Given the description of an element on the screen output the (x, y) to click on. 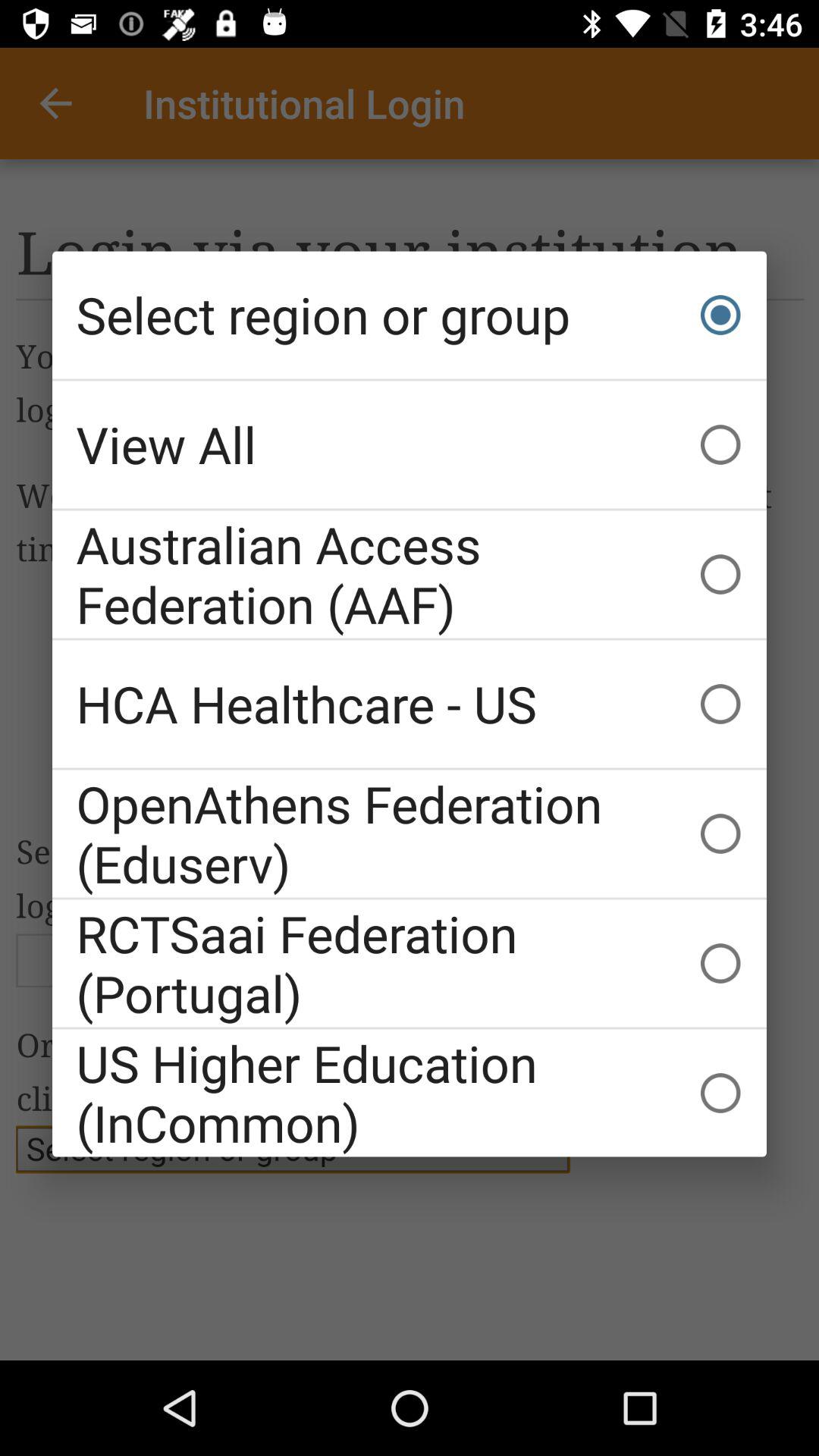
open australian access federation icon (409, 574)
